Given the description of an element on the screen output the (x, y) to click on. 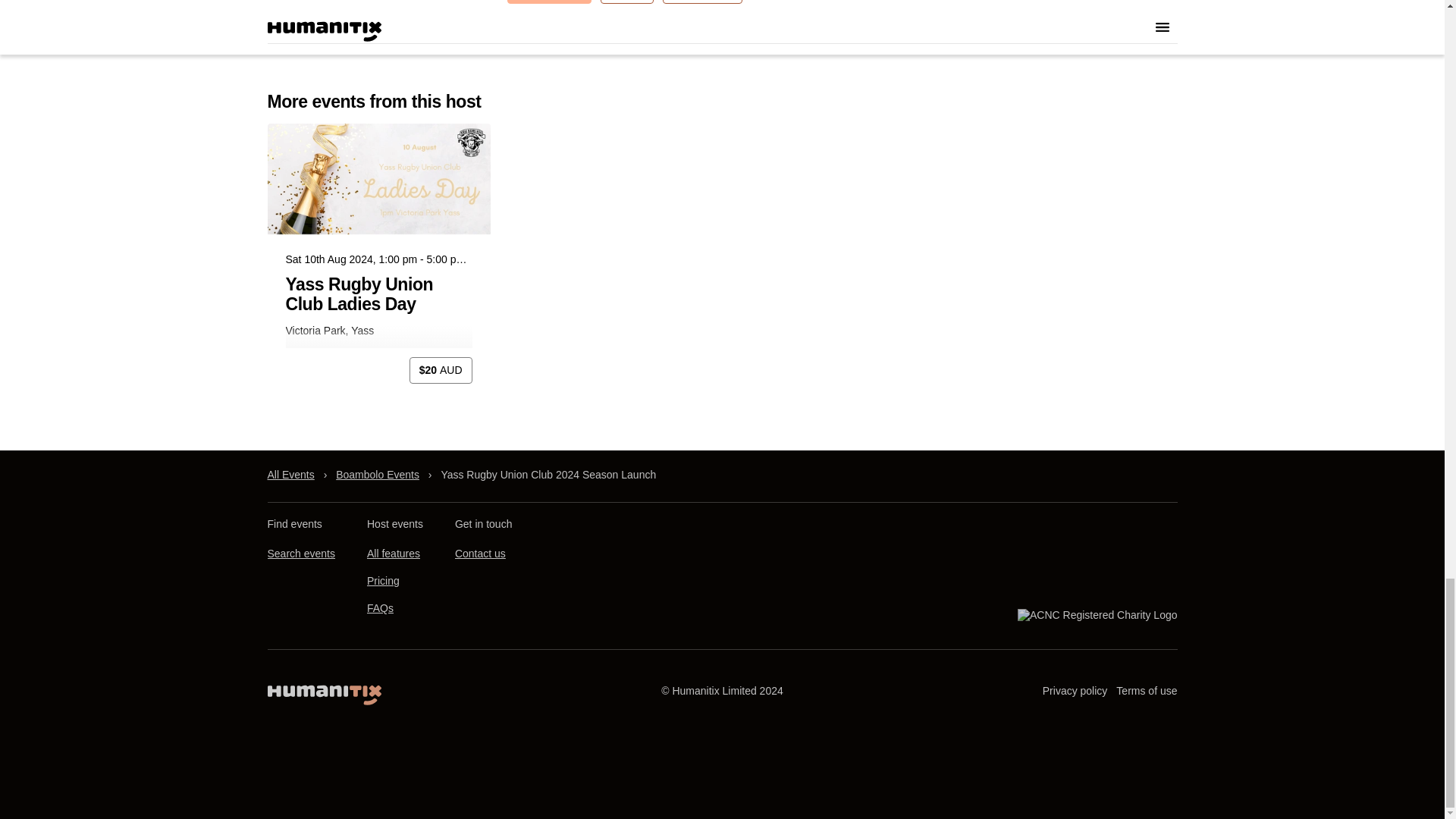
Yass Rugby Union Club 2024 Season Launch (548, 474)
Contact host (548, 2)
All features (393, 553)
All Events (290, 474)
Search events (300, 553)
View profile (701, 2)
Boambolo Events (377, 474)
Follow (626, 2)
